Given the description of an element on the screen output the (x, y) to click on. 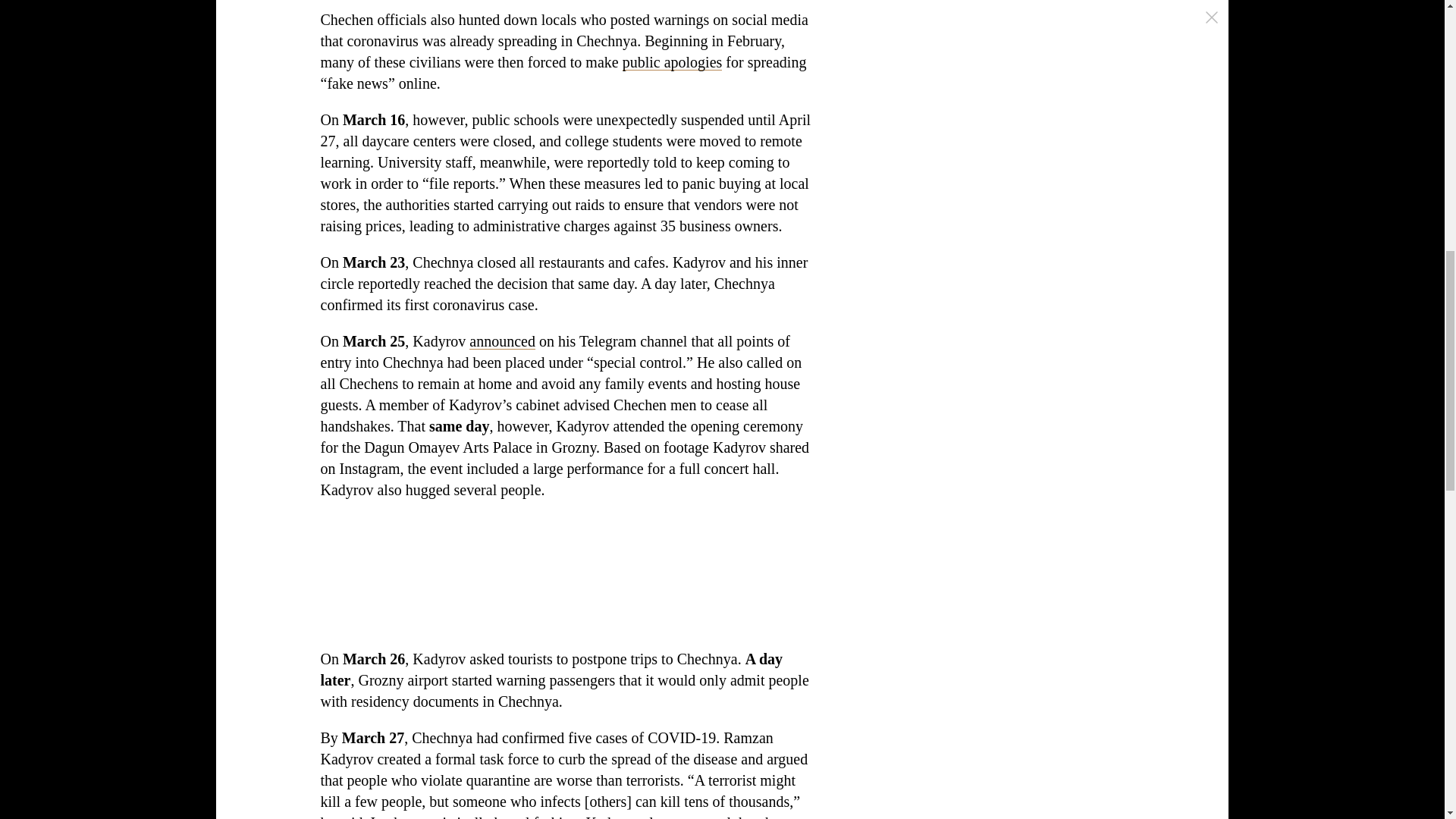
public apologies (672, 62)
announced (501, 340)
said (349, 816)
